Given the description of an element on the screen output the (x, y) to click on. 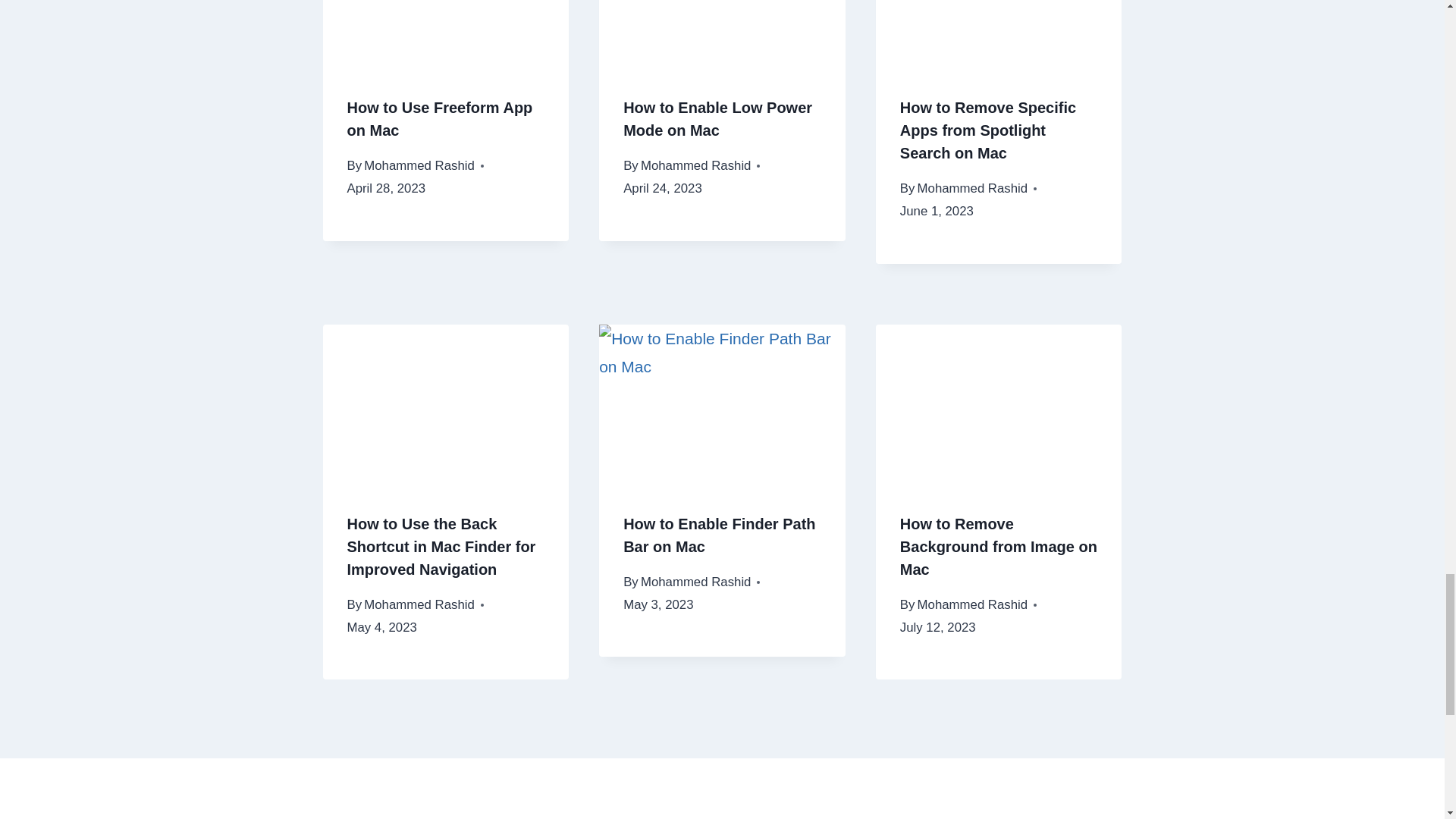
How to Enable Finder Path Bar on Mac (719, 535)
How to Use Freeform App on Mac (439, 118)
How to Remove Specific Apps from Spotlight Search on Mac (987, 130)
How to Enable Low Power Mode on Mac (717, 118)
Mohammed Rashid (419, 165)
Mohammed Rashid (972, 187)
Mohammed Rashid (695, 165)
Mohammed Rashid (419, 604)
